Given the description of an element on the screen output the (x, y) to click on. 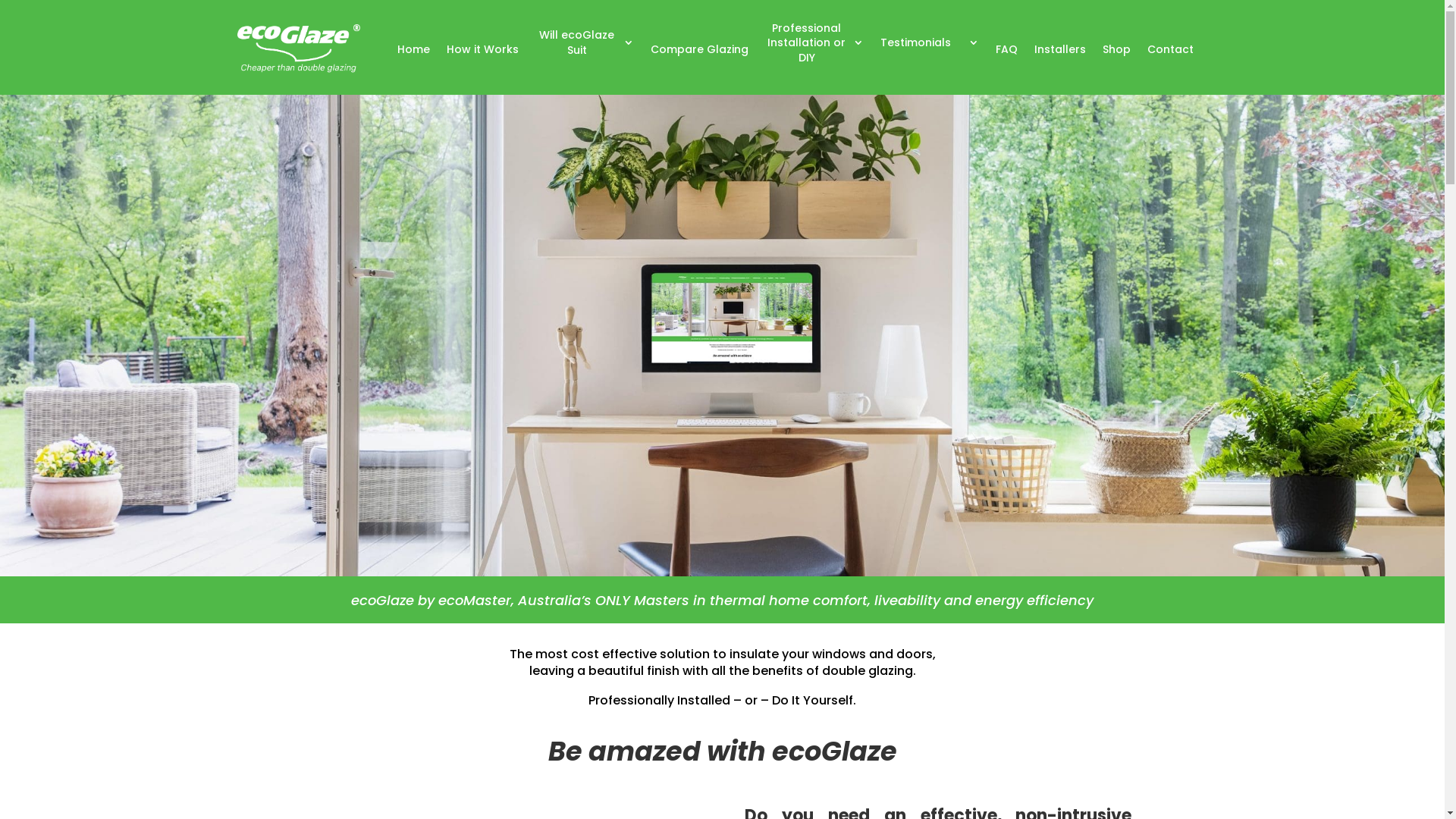
Contact Element type: text (1169, 49)
Compare Glazing Element type: text (699, 49)
Will ecoGlaze Suit Element type: text (584, 42)
Professional Installation or DIY Element type: text (813, 42)
Home Element type: text (413, 49)
FAQ Element type: text (1005, 49)
Shop Element type: text (1116, 49)
Testimonials Element type: text (928, 42)
Installers Element type: text (1059, 49)
How it Works Element type: text (481, 49)
